Given the description of an element on the screen output the (x, y) to click on. 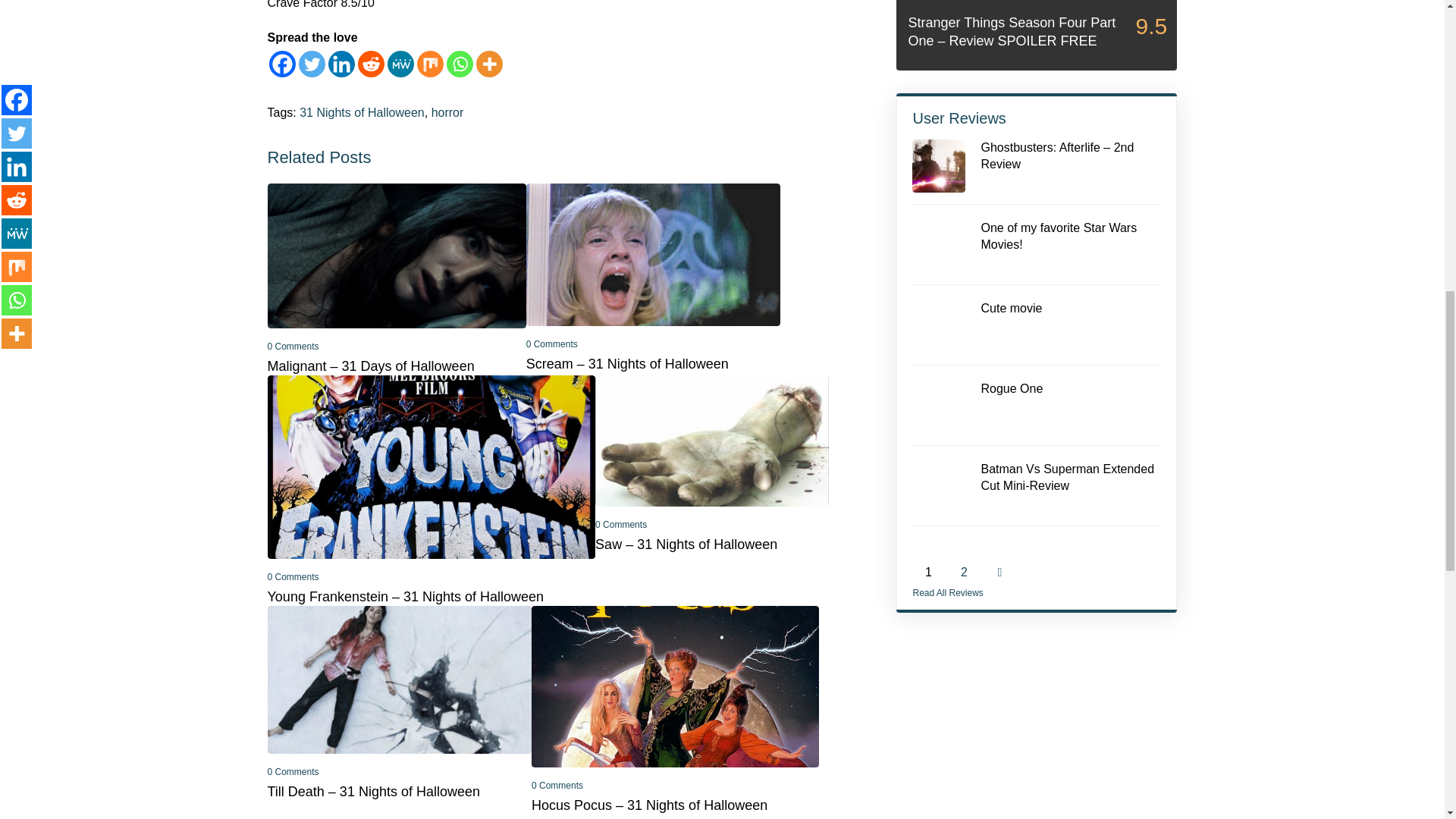
MeWe (400, 63)
Reddit (371, 63)
Linkedin (340, 63)
Facebook (281, 63)
Twitter (311, 63)
